Given the description of an element on the screen output the (x, y) to click on. 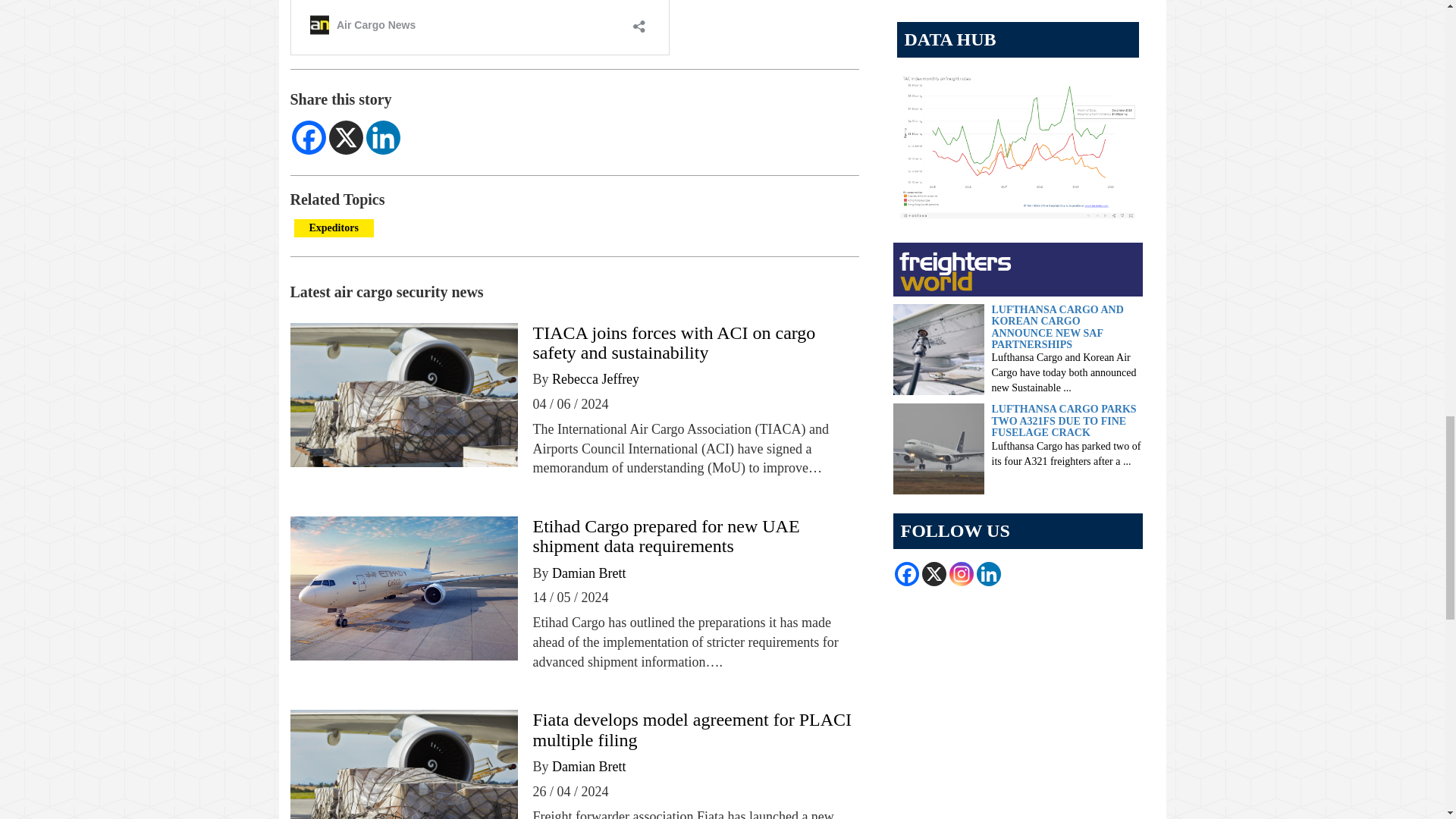
Facebook (307, 137)
X (345, 137)
Linkedin (381, 137)
